Given the description of an element on the screen output the (x, y) to click on. 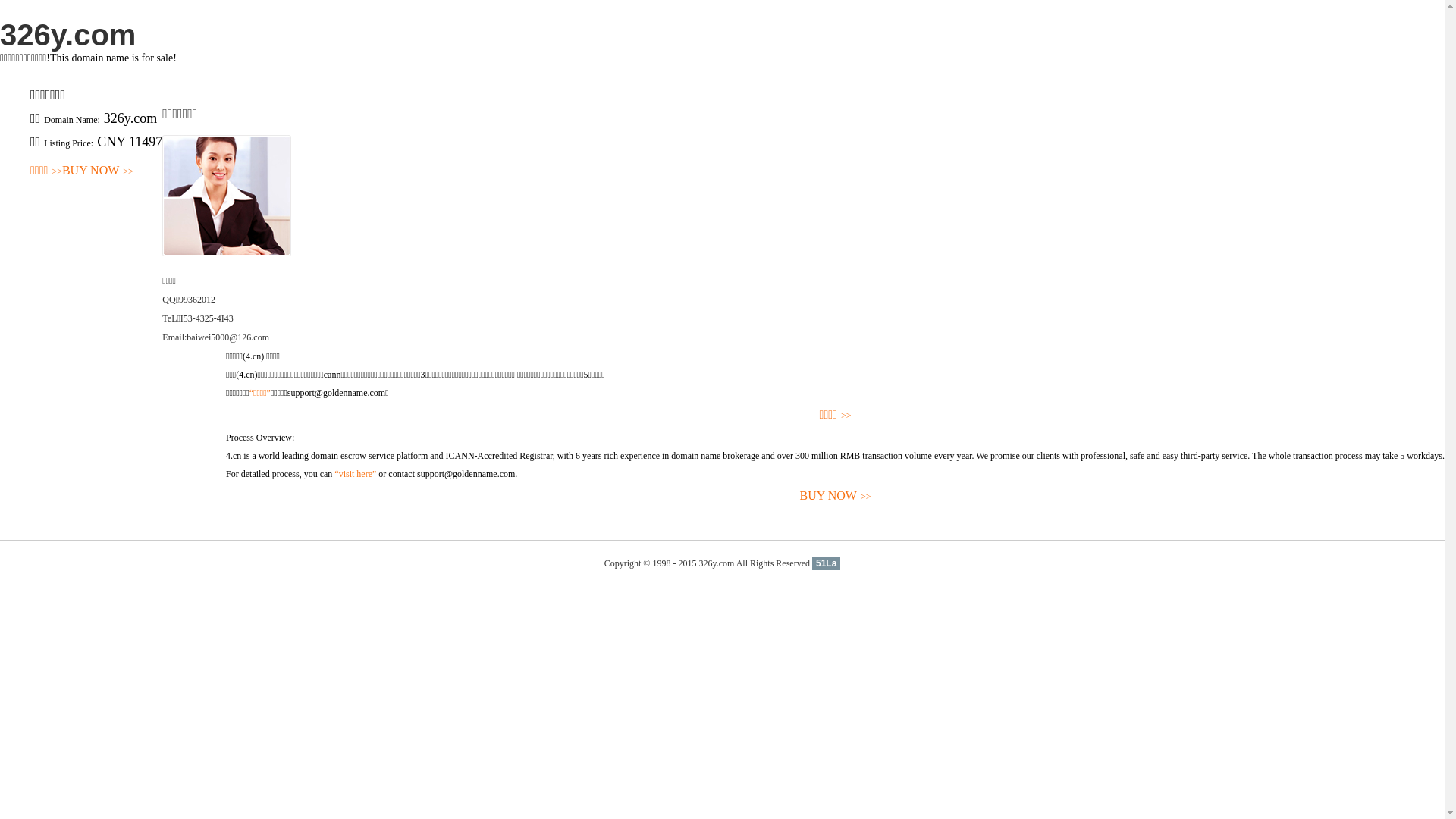
BUY NOW>> Element type: text (97, 170)
BUY NOW>> Element type: text (834, 496)
51La Element type: text (826, 563)
